Given the description of an element on the screen output the (x, y) to click on. 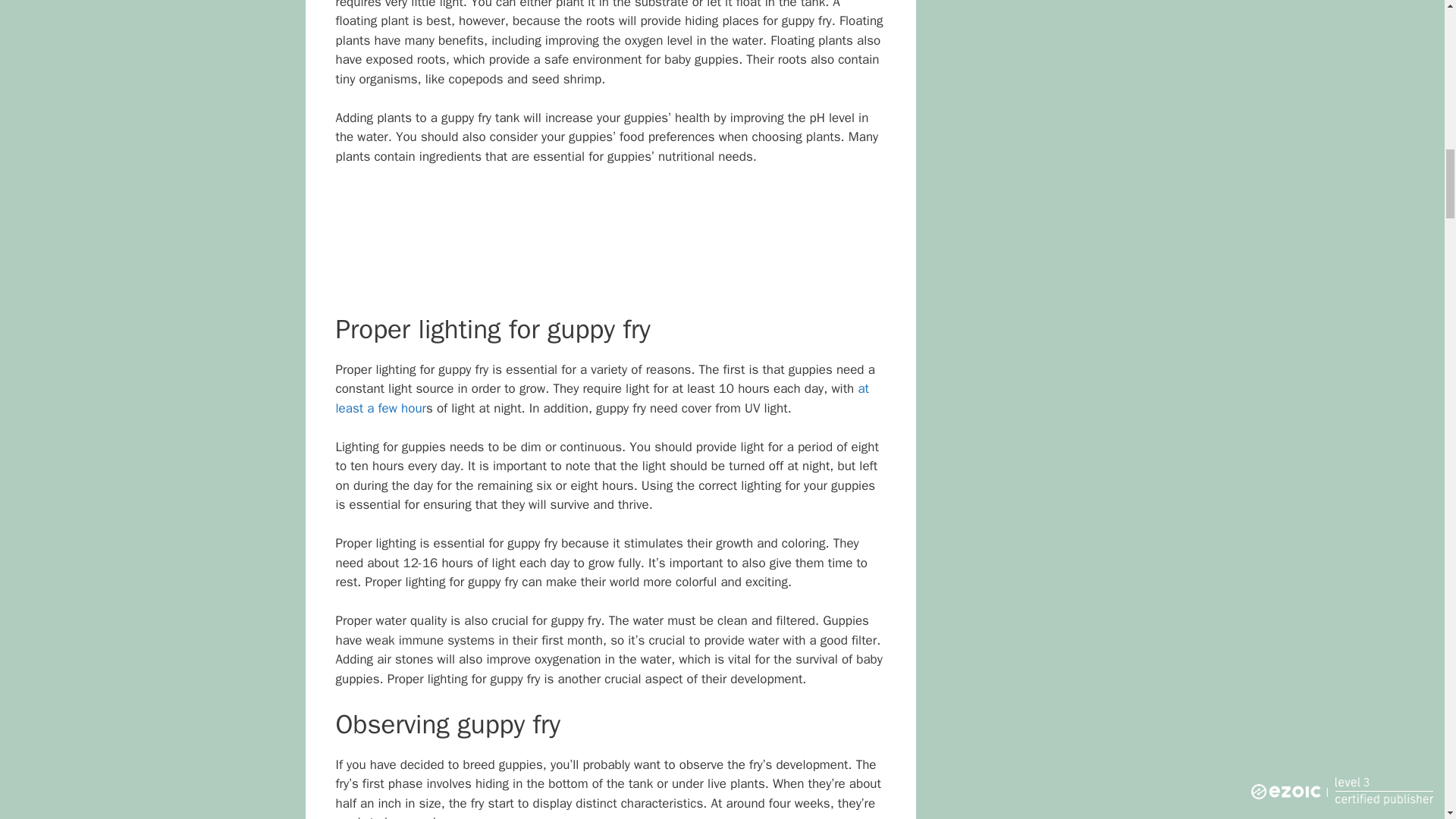
at least a few hour (600, 398)
